Given the description of an element on the screen output the (x, y) to click on. 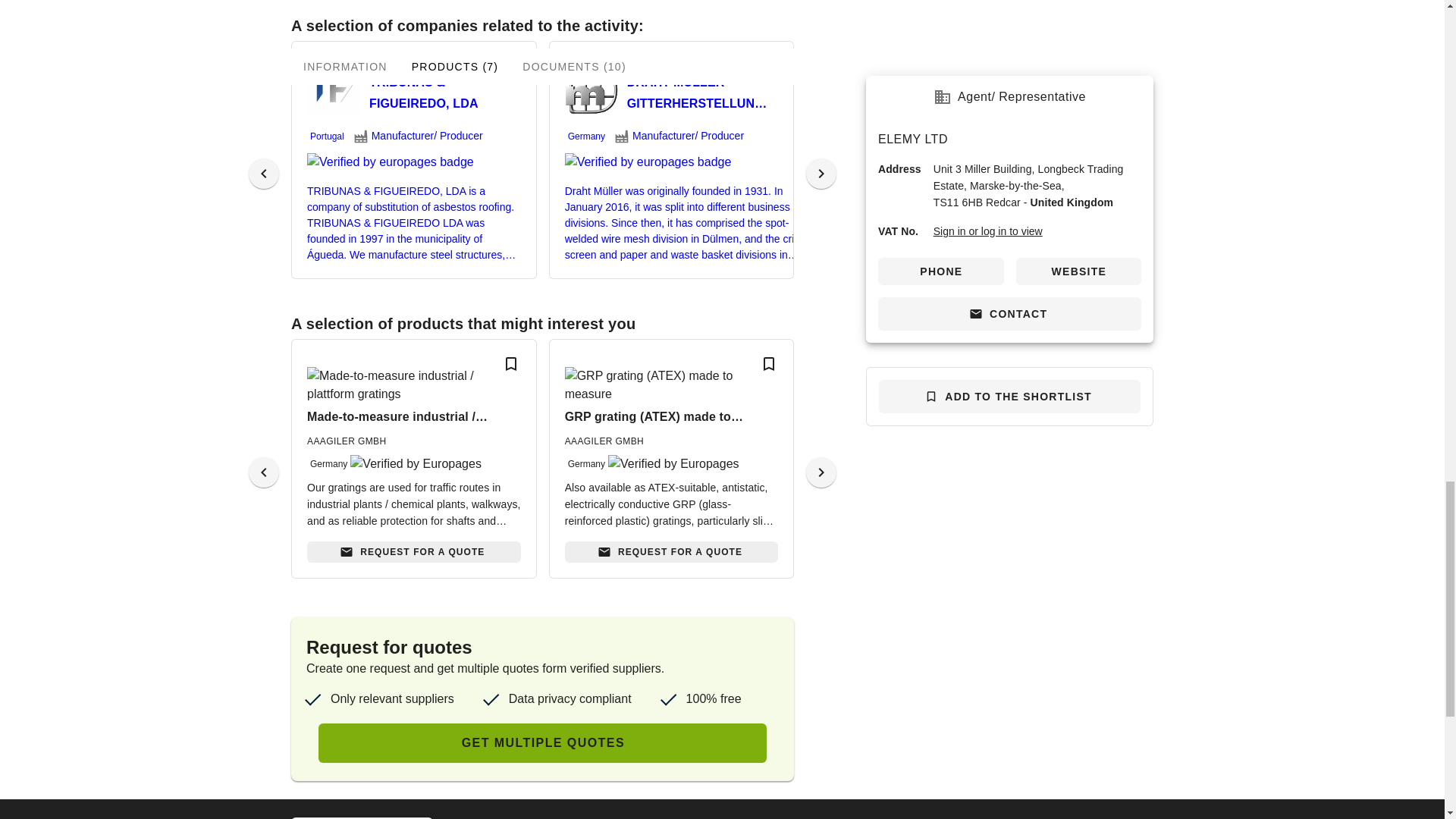
Add my company (361, 818)
